Given the description of an element on the screen output the (x, y) to click on. 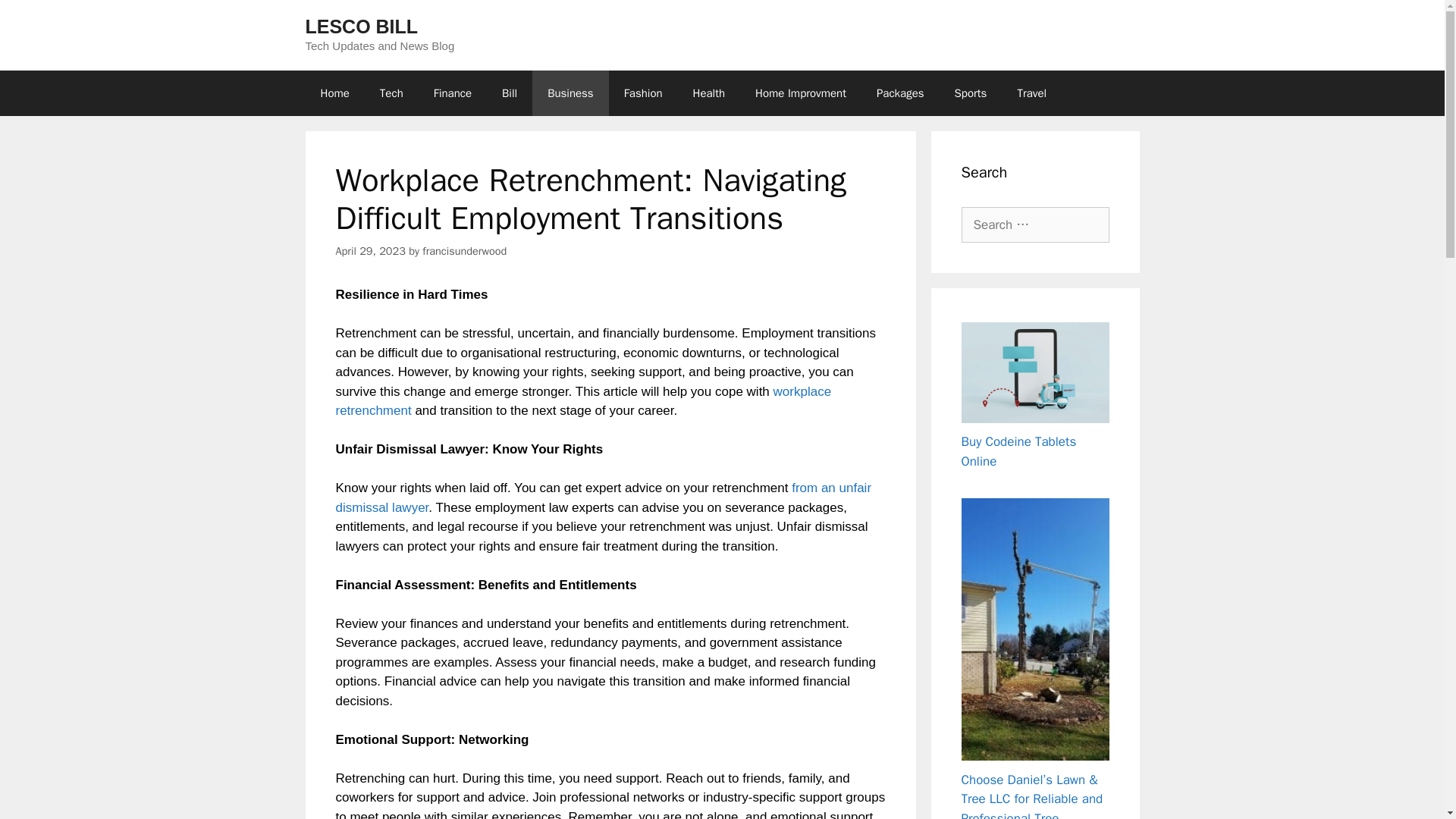
Sports (971, 92)
Business (570, 92)
Buy Codeine Tablets Online (1018, 451)
Packages (900, 92)
Search (35, 18)
Fashion (643, 92)
Health (709, 92)
Home (334, 92)
Tech (392, 92)
View all posts by francisunderwood (464, 250)
